Given the description of an element on the screen output the (x, y) to click on. 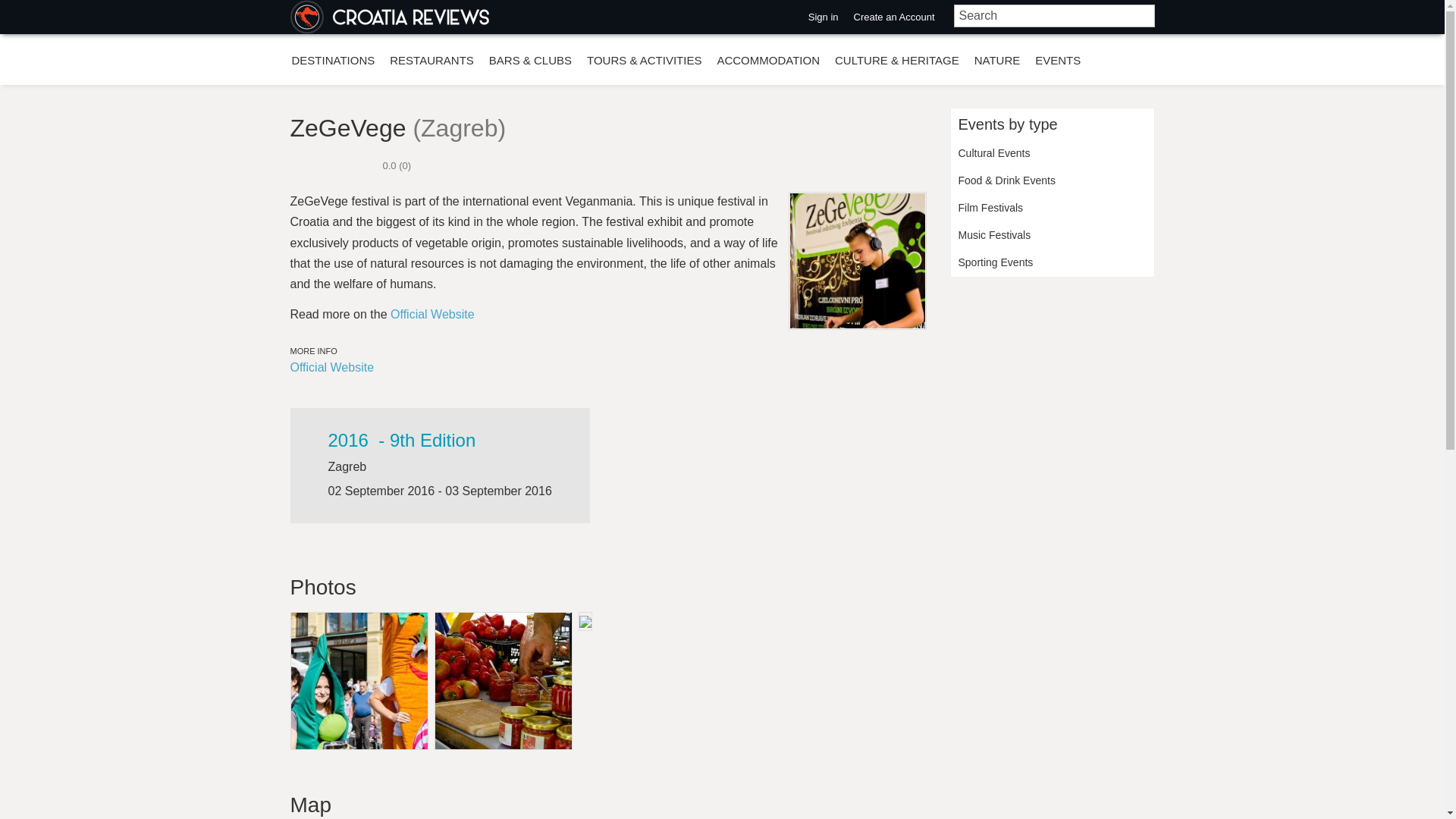
Music Festivals (1052, 235)
RESTAURANTS (431, 59)
Official Website (331, 367)
PRODUCTS (322, 88)
EVENTS (1057, 59)
User rating (350, 165)
Create an Account (893, 17)
DESTINATIONS (332, 59)
Sign in (822, 17)
Sporting Events (1052, 262)
